Given the description of an element on the screen output the (x, y) to click on. 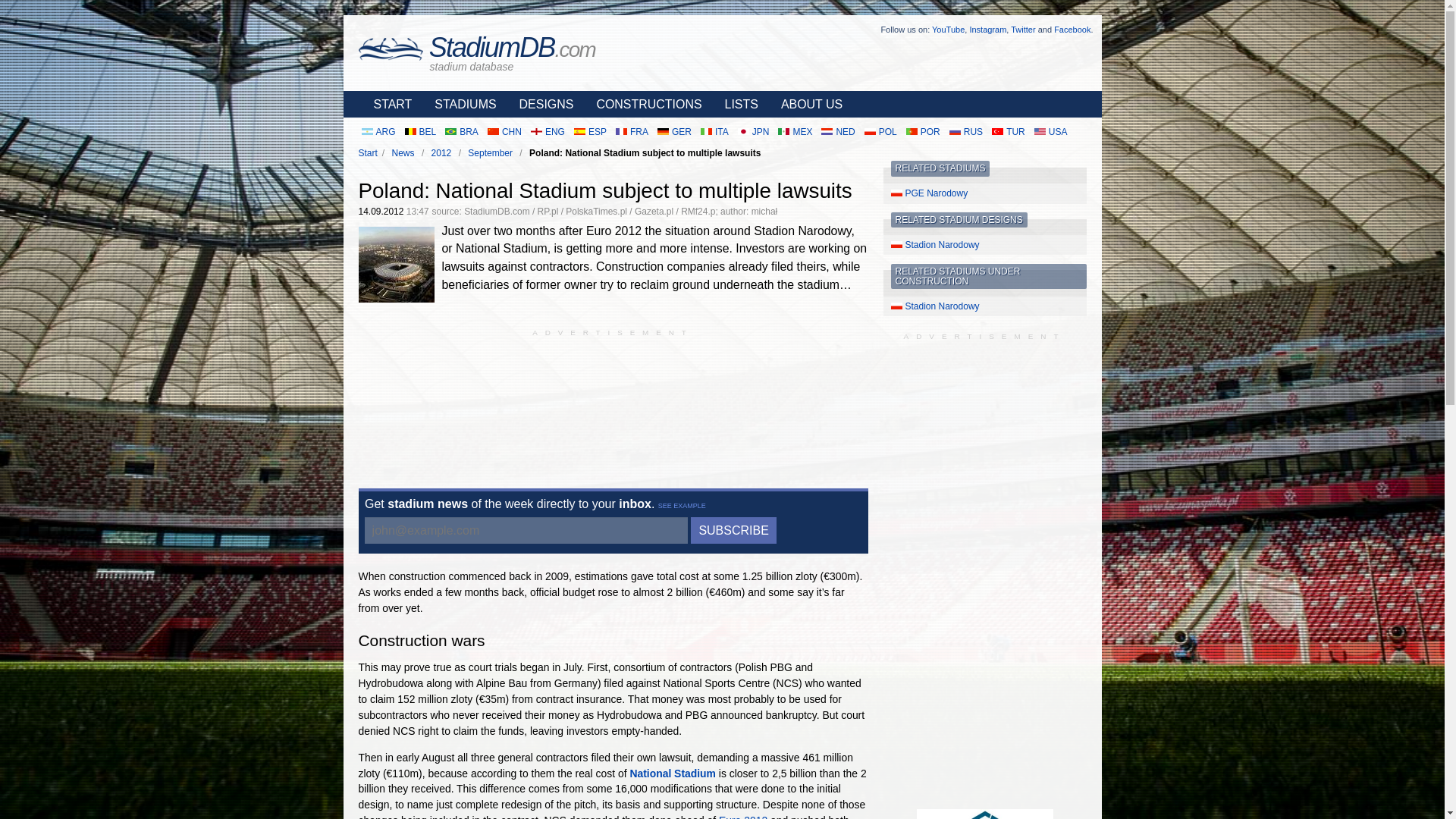
CONSTRUCTIONS (644, 103)
ABOUT US (807, 103)
BRA (461, 131)
JPN (754, 131)
FRA (631, 131)
STADIUMS (461, 103)
YouTube (947, 29)
NED (837, 131)
POR (922, 131)
Start (367, 153)
DESIGNS (541, 103)
ITA (714, 131)
Stadion Narodowy (984, 306)
Twitter (1022, 29)
Stadion Narodowy (984, 244)
